Given the description of an element on the screen output the (x, y) to click on. 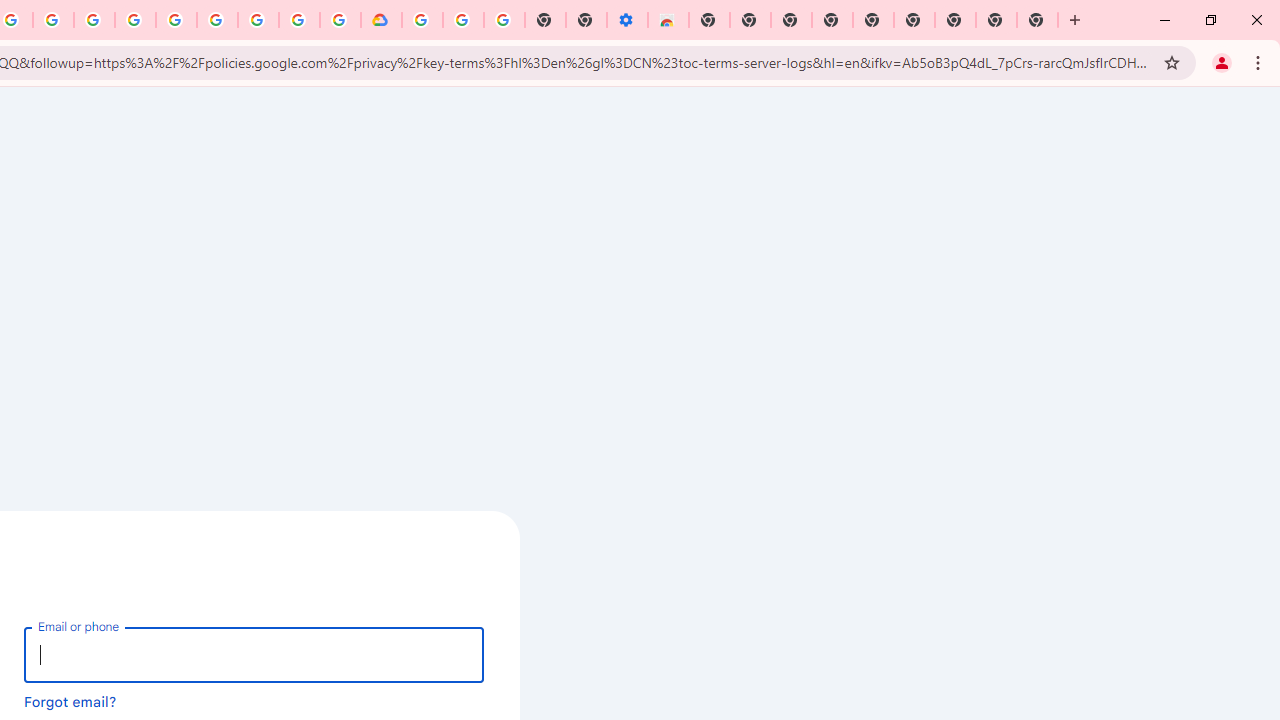
New Tab (708, 20)
Sign in - Google Accounts (176, 20)
Turn cookies on or off - Computer - Google Account Help (503, 20)
Forgot email? (70, 701)
Browse the Google Chrome Community - Google Chrome Community (340, 20)
New Tab (1037, 20)
Chrome Web Store - Accessibility extensions (667, 20)
Email or phone (253, 654)
Google Account Help (462, 20)
Sign in - Google Accounts (421, 20)
